Given the description of an element on the screen output the (x, y) to click on. 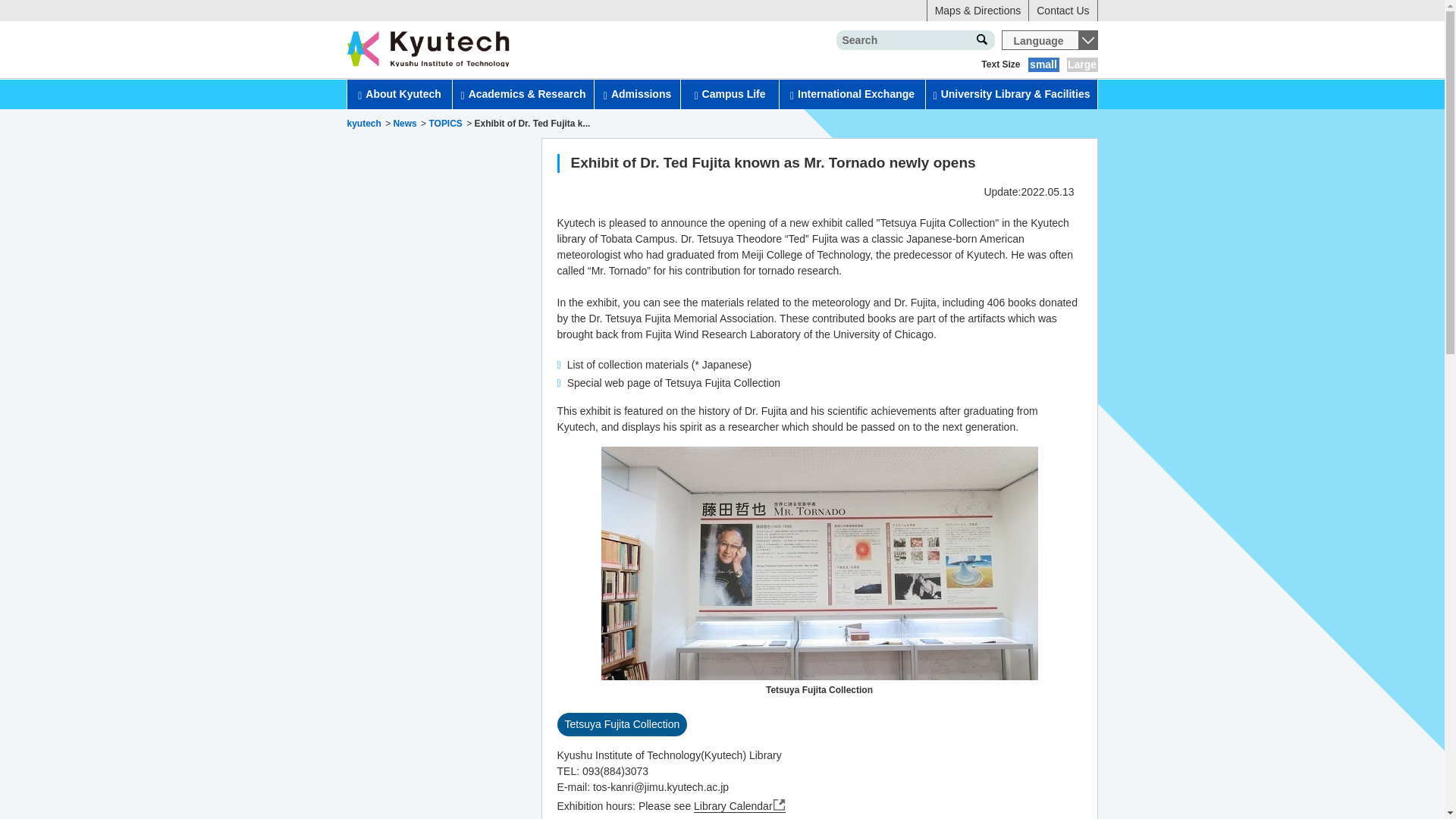
Large (1081, 64)
Contact Us (1062, 10)
International Exchange (851, 93)
Search by Keyword (981, 39)
Campus Life (729, 93)
About Kyutech (399, 93)
Search by Keyword (981, 39)
Admissions (636, 93)
small (1043, 64)
Search by Keyword (981, 39)
